Given the description of an element on the screen output the (x, y) to click on. 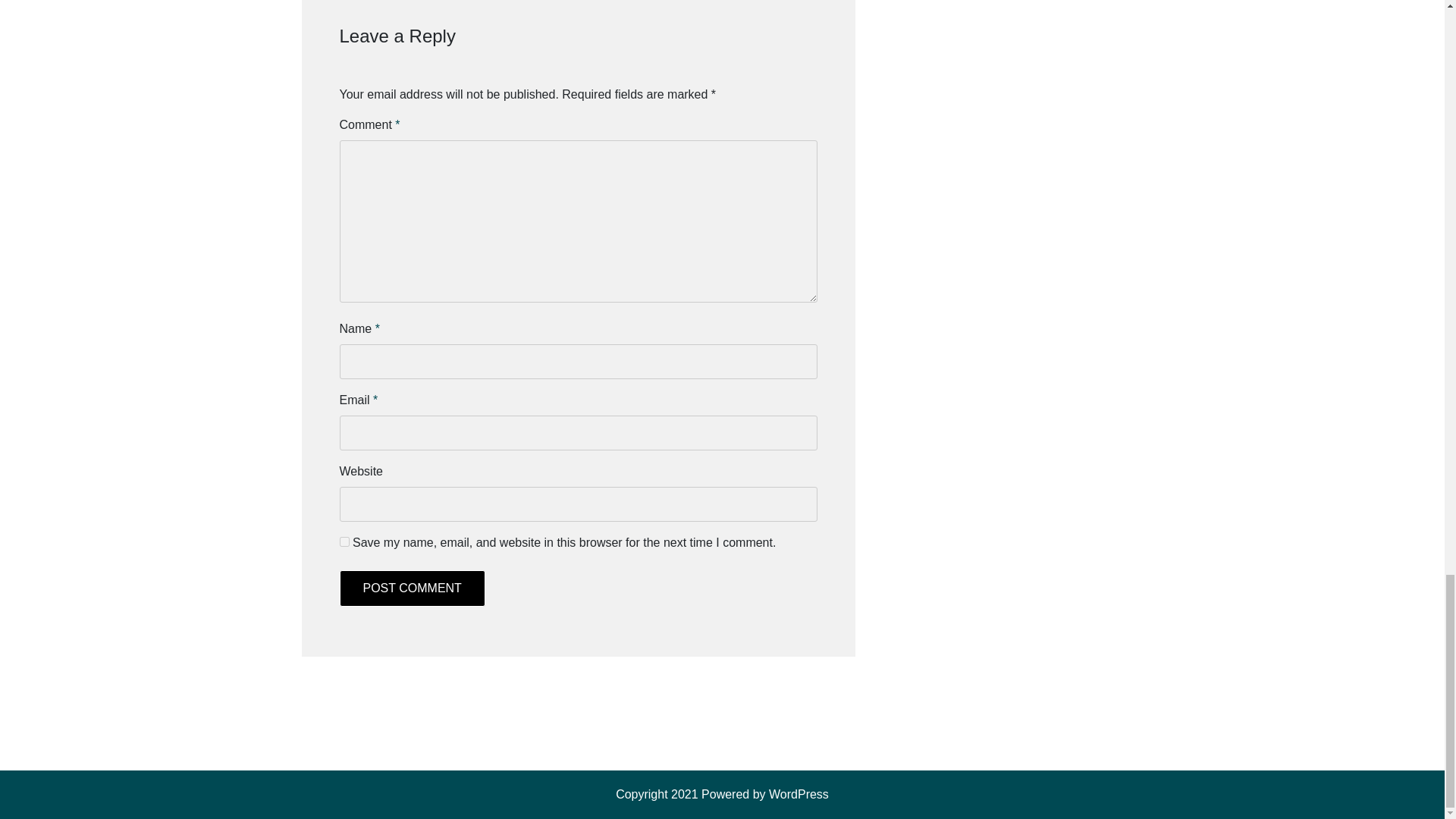
Post Comment (411, 588)
Post Comment (411, 588)
yes (344, 542)
